Given the description of an element on the screen output the (x, y) to click on. 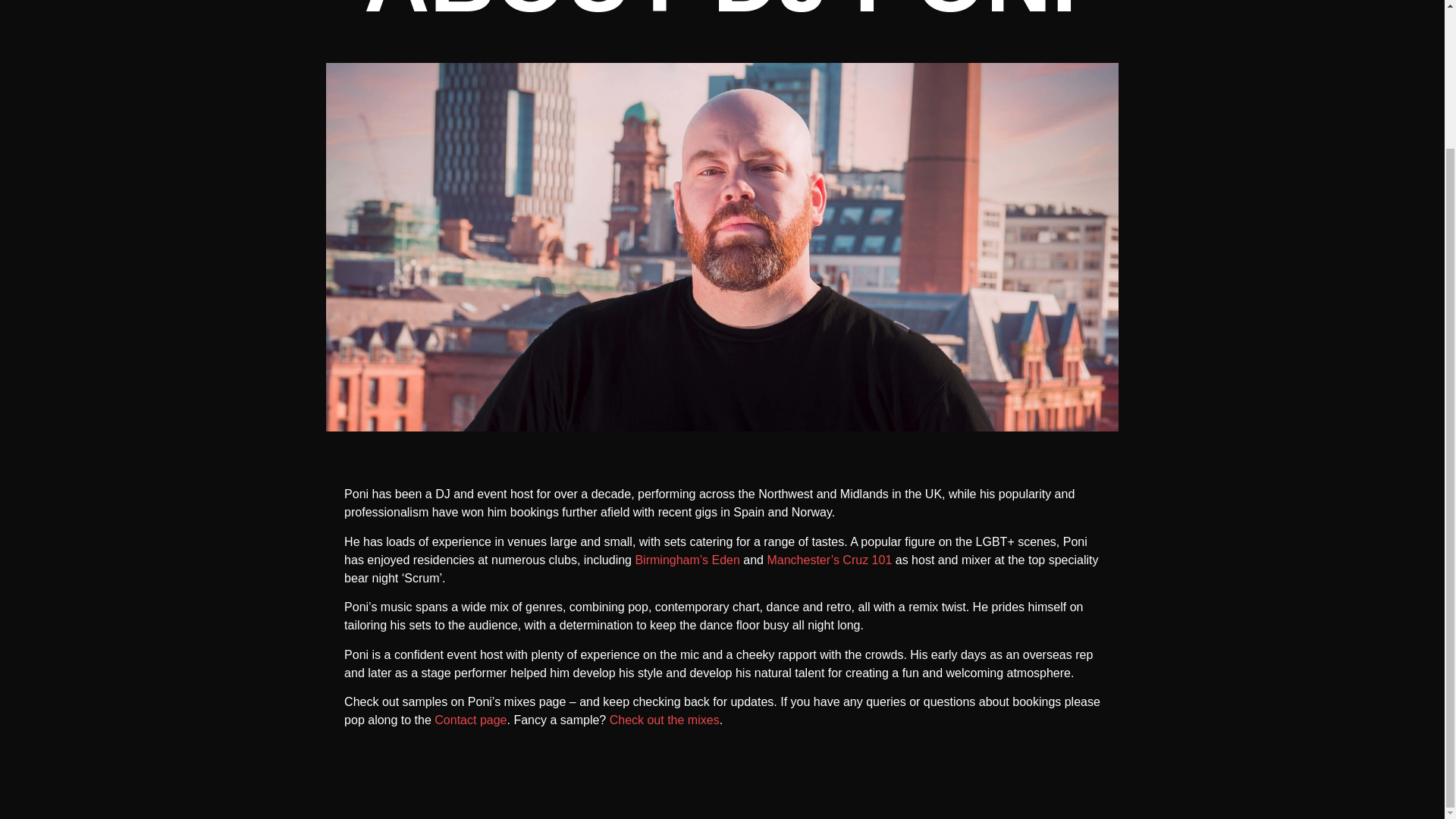
Contact page (469, 719)
Check out the mixes (664, 719)
